Given the description of an element on the screen output the (x, y) to click on. 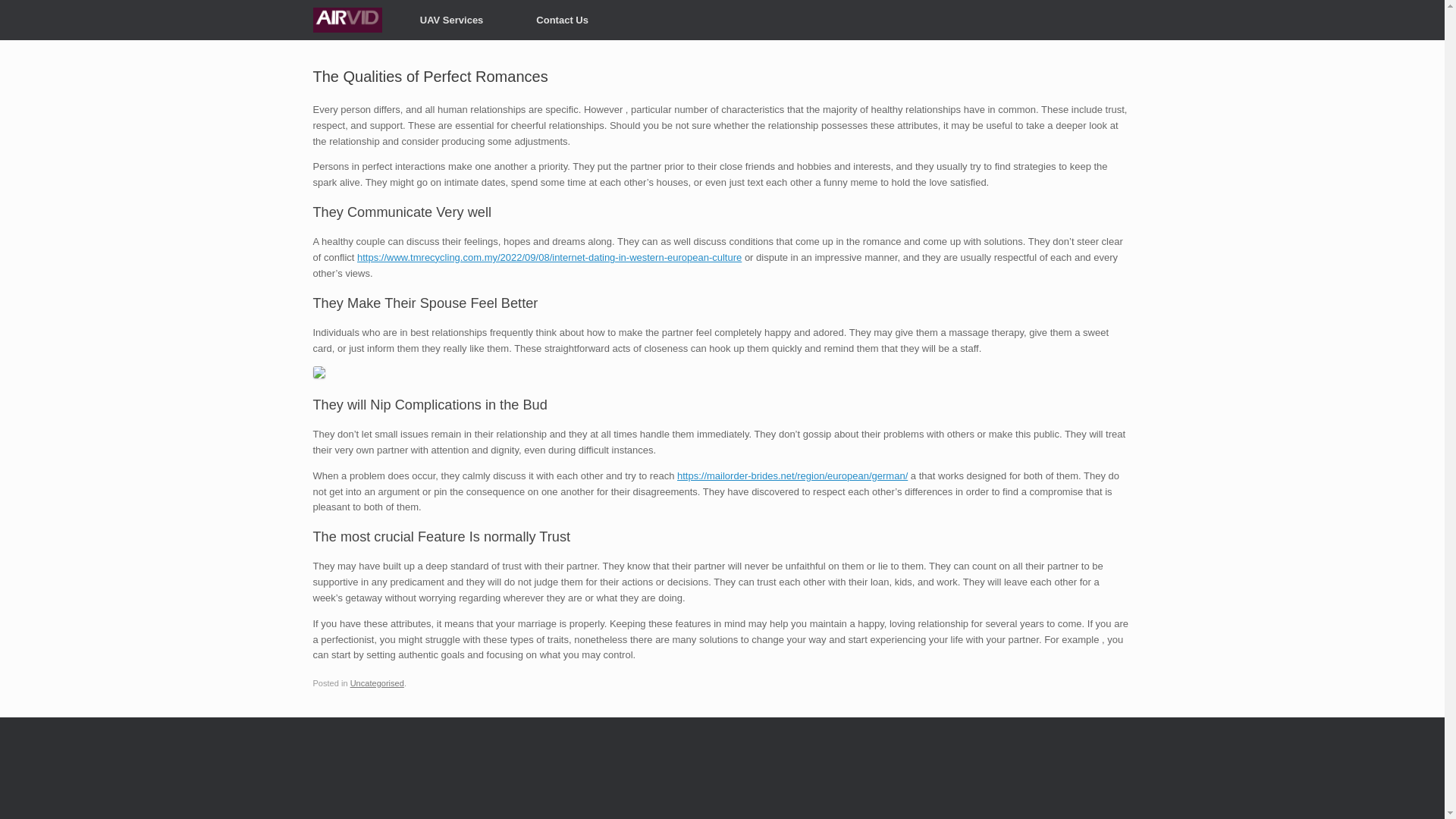
UAV Services (452, 20)
Contact Us (561, 20)
AIRVID (347, 20)
Uncategorised (377, 682)
